Given the description of an element on the screen output the (x, y) to click on. 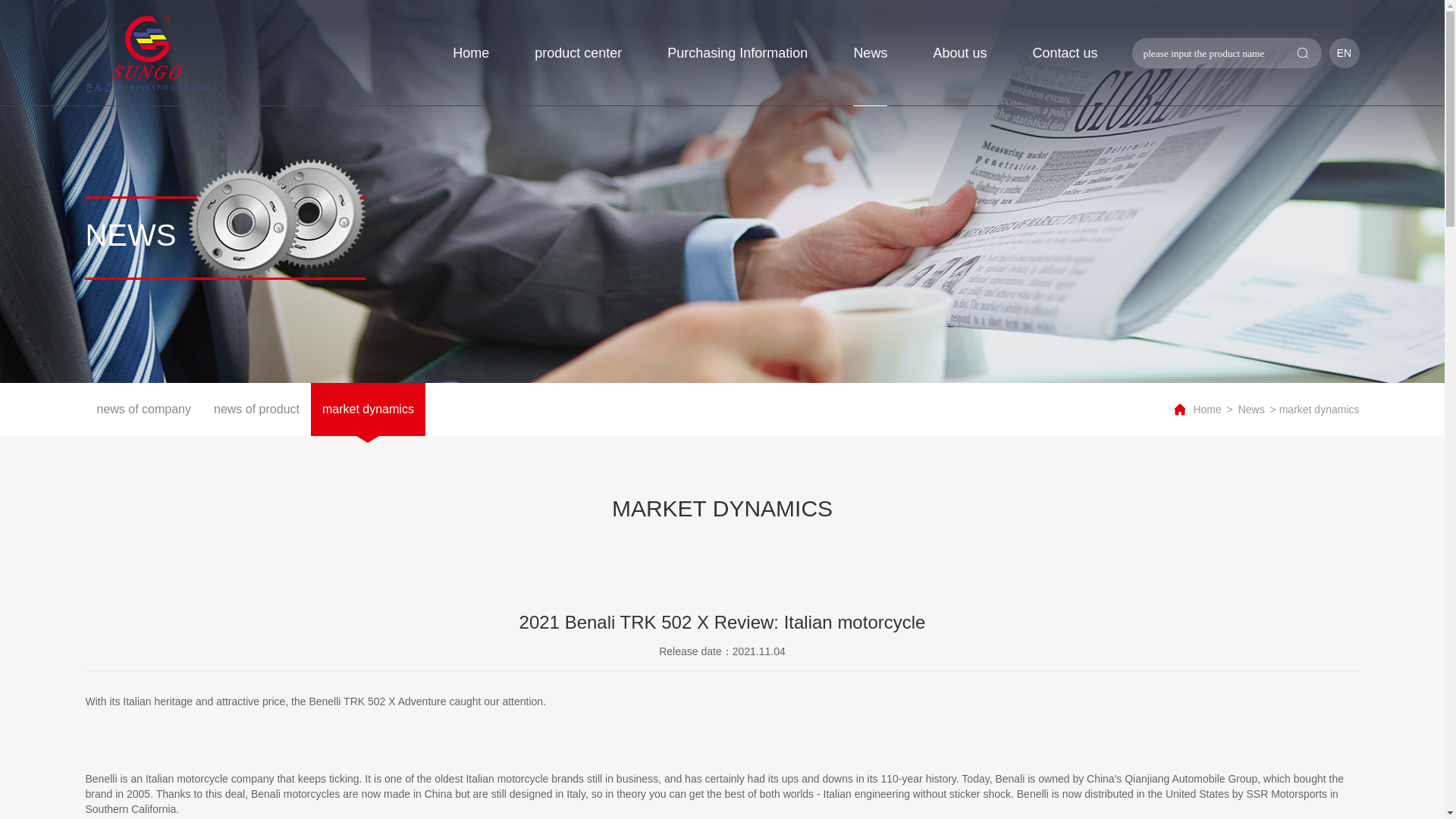
Purchasing Information (737, 53)
Home (470, 53)
Home (1206, 409)
About us (960, 53)
news of company (143, 409)
News (869, 53)
product center (577, 53)
News (1252, 409)
news of product (256, 409)
market dynamics (368, 409)
Contact us (1064, 53)
